Given the description of an element on the screen output the (x, y) to click on. 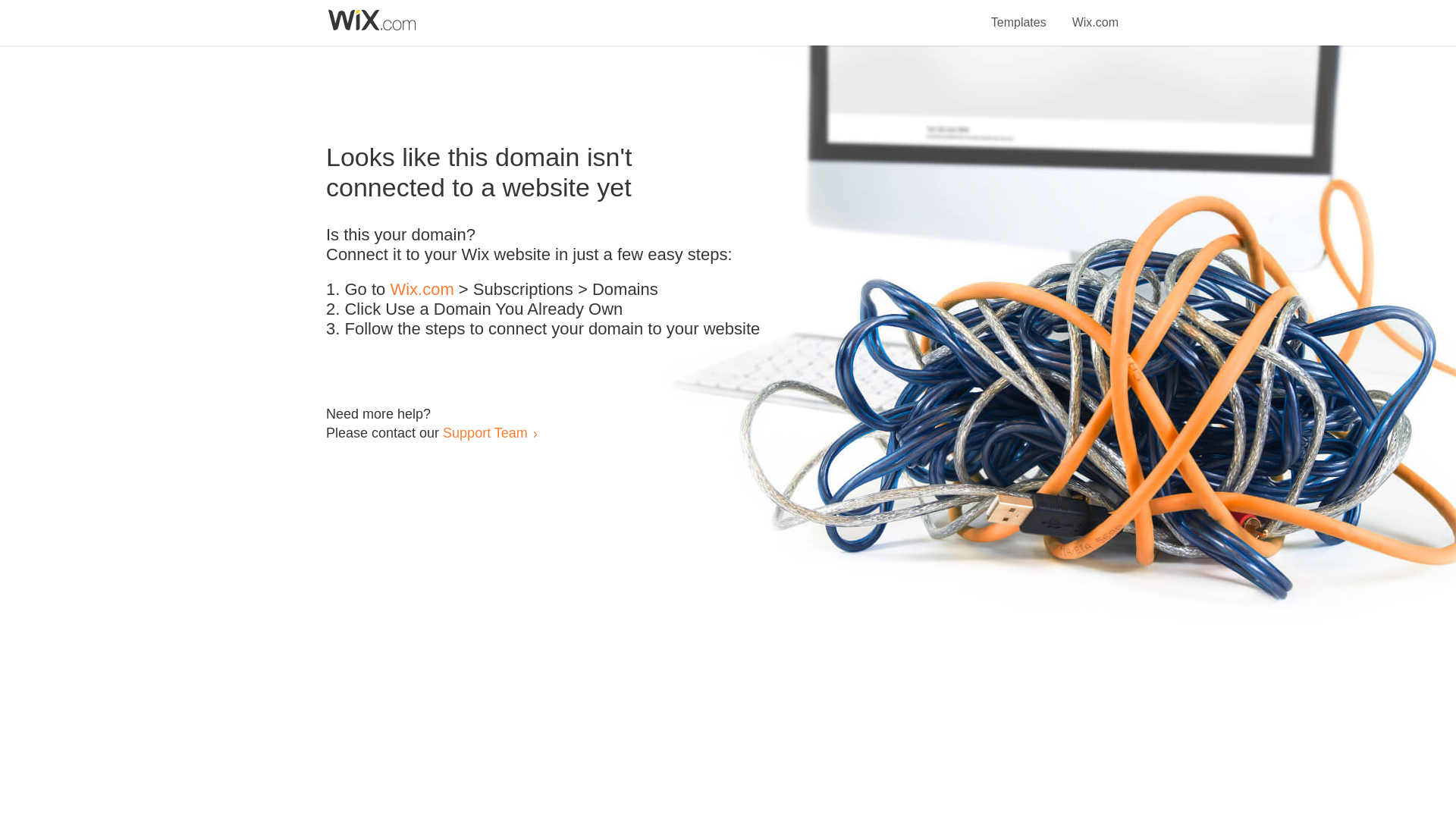
Wix.com (1095, 14)
Wix.com (421, 289)
Support Team (484, 432)
Templates (1018, 14)
